Given the description of an element on the screen output the (x, y) to click on. 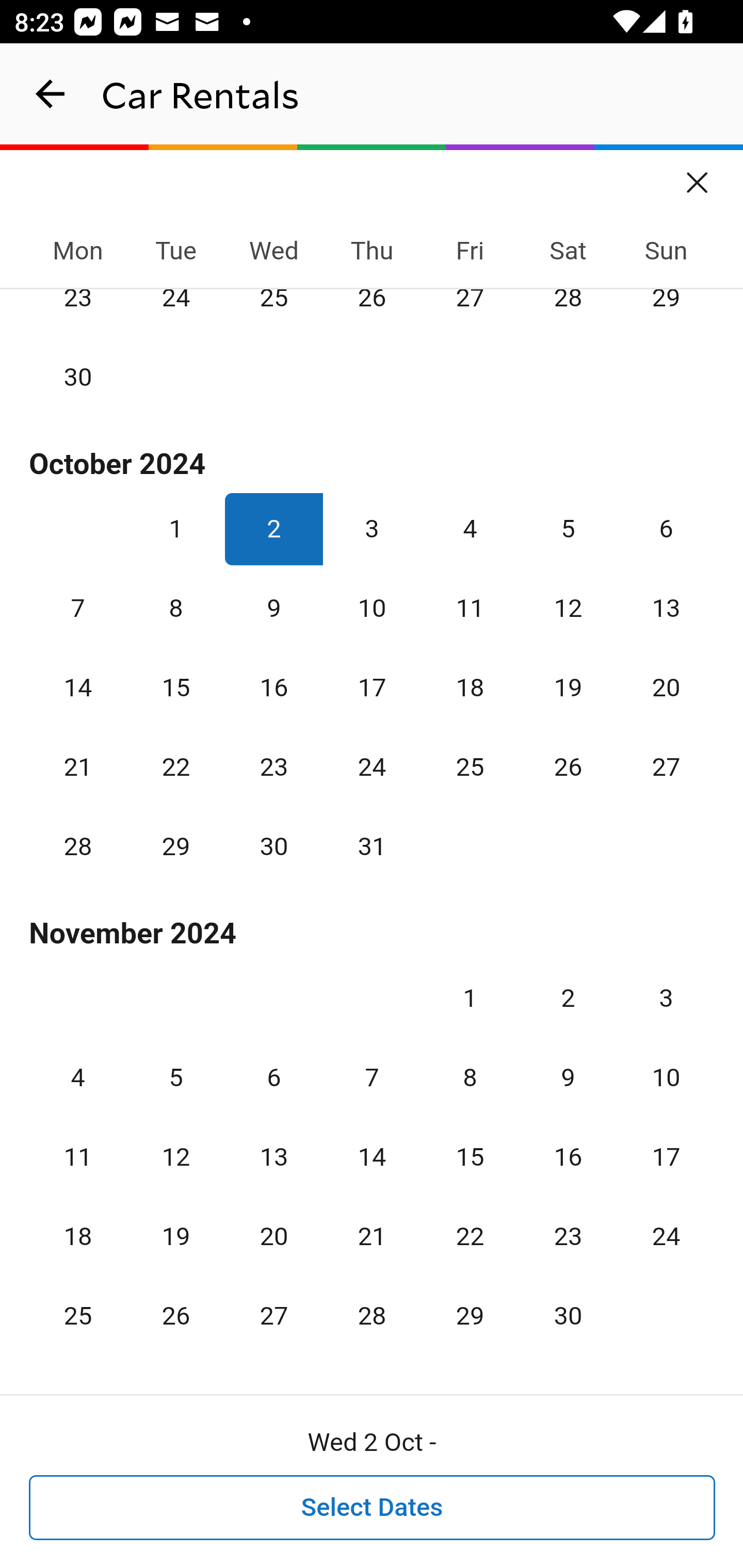
navigation_button (50, 93)
Close (697, 176)
23 September 2024 (77, 310)
24 September 2024 (175, 310)
25 September 2024 (273, 310)
26 September 2024 (371, 310)
27 September 2024 (470, 310)
28 September 2024 (567, 310)
29 September 2024 (665, 310)
30 September 2024 (77, 375)
1 October 2024 (175, 528)
2 October 2024 (273, 528)
3 October 2024 (371, 528)
4 October 2024 (470, 528)
5 October 2024 (567, 528)
6 October 2024 (665, 528)
7 October 2024 (77, 607)
8 October 2024 (175, 607)
9 October 2024 (273, 607)
10 October 2024 (371, 607)
11 October 2024 (470, 607)
12 October 2024 (567, 607)
13 October 2024 (665, 607)
14 October 2024 (77, 686)
15 October 2024 (175, 686)
16 October 2024 (273, 686)
17 October 2024 (371, 686)
18 October 2024 (470, 686)
19 October 2024 (567, 686)
20 October 2024 (665, 686)
21 October 2024 (77, 766)
22 October 2024 (175, 766)
23 October 2024 (273, 766)
24 October 2024 (371, 766)
25 October 2024 (470, 766)
26 October 2024 (567, 766)
27 October 2024 (665, 766)
28 October 2024 (77, 846)
29 October 2024 (175, 846)
30 October 2024 (273, 846)
31 October 2024 (371, 846)
1 November 2024 (470, 997)
2 November 2024 (567, 997)
3 November 2024 (665, 997)
4 November 2024 (77, 1076)
5 November 2024 (175, 1076)
6 November 2024 (273, 1076)
7 November 2024 (371, 1076)
8 November 2024 (470, 1076)
9 November 2024 (567, 1076)
10 November 2024 (665, 1076)
11 November 2024 (77, 1156)
12 November 2024 (175, 1156)
13 November 2024 (273, 1156)
14 November 2024 (371, 1156)
15 November 2024 (470, 1156)
16 November 2024 (567, 1156)
17 November 2024 (665, 1156)
18 November 2024 (77, 1235)
19 November 2024 (175, 1235)
20 November 2024 (273, 1235)
21 November 2024 (371, 1235)
22 November 2024 (470, 1235)
23 November 2024 (567, 1235)
24 November 2024 (665, 1235)
25 November 2024 (77, 1314)
26 November 2024 (175, 1314)
27 November 2024 (273, 1314)
28 November 2024 (371, 1314)
29 November 2024 (470, 1314)
30 November 2024 (567, 1314)
Select Dates (372, 1508)
